Given the description of an element on the screen output the (x, y) to click on. 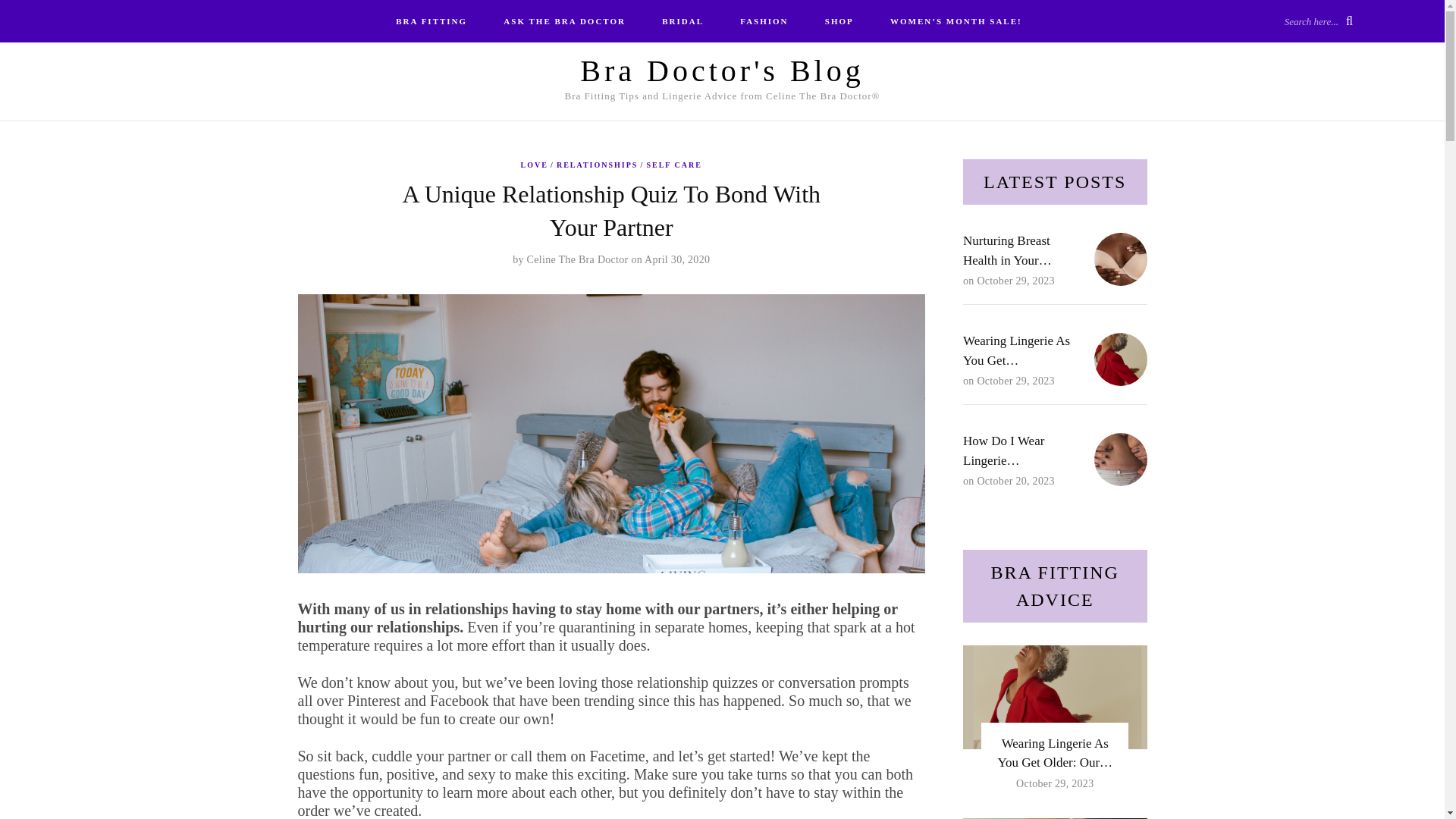
RELATIONSHIPS (599, 164)
Women's Month Sale! (956, 21)
Bridal (682, 21)
Celine The Bra Doctor (577, 259)
SELF CARE (673, 164)
Search here... (1318, 20)
Posts by Celine The Bra Doctor (577, 259)
Fashion (764, 21)
Bra Doctor's Blog (721, 70)
LOVE (537, 164)
SHOP (839, 21)
Shop (839, 21)
BRA FITTING (430, 21)
FASHION (764, 21)
Ask The Bra Doctor (563, 21)
